Given the description of an element on the screen output the (x, y) to click on. 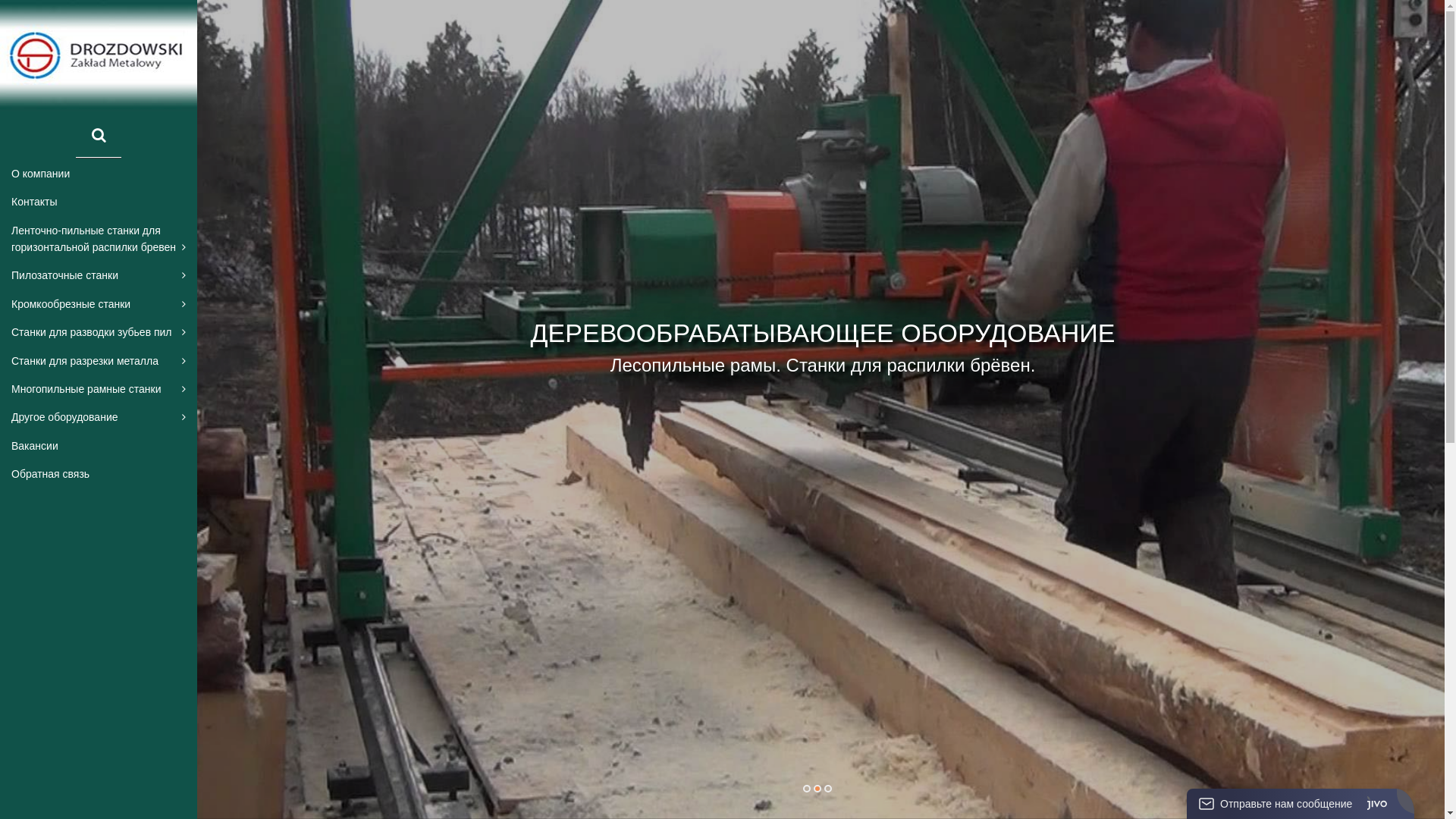
Search this site Element type: hover (98, 136)
1 Element type: text (805, 788)
Skip to content Element type: text (0, 0)
2 Element type: text (816, 788)
3 Element type: text (827, 788)
